Given the description of an element on the screen output the (x, y) to click on. 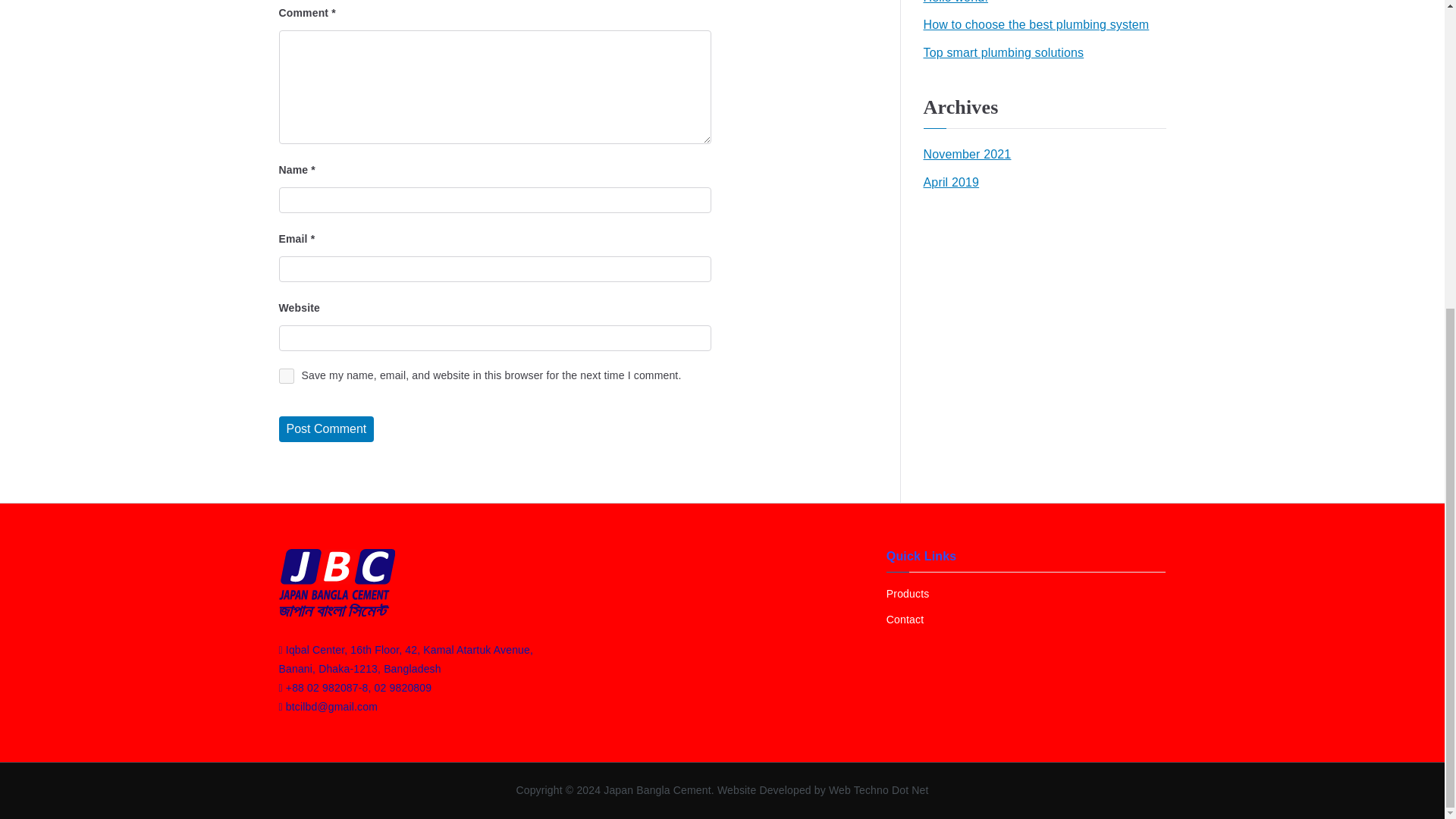
How to choose the best plumbing system (1036, 25)
Japan Bangla Cement (657, 789)
Contact (1026, 619)
yes (286, 376)
Post Comment (326, 429)
April 2019 (951, 182)
Japan Bangla Cement (657, 789)
Top smart plumbing solutions (1003, 53)
November 2021 (967, 155)
Products (1026, 593)
Hello world! (955, 4)
Post Comment (326, 429)
